Given the description of an element on the screen output the (x, y) to click on. 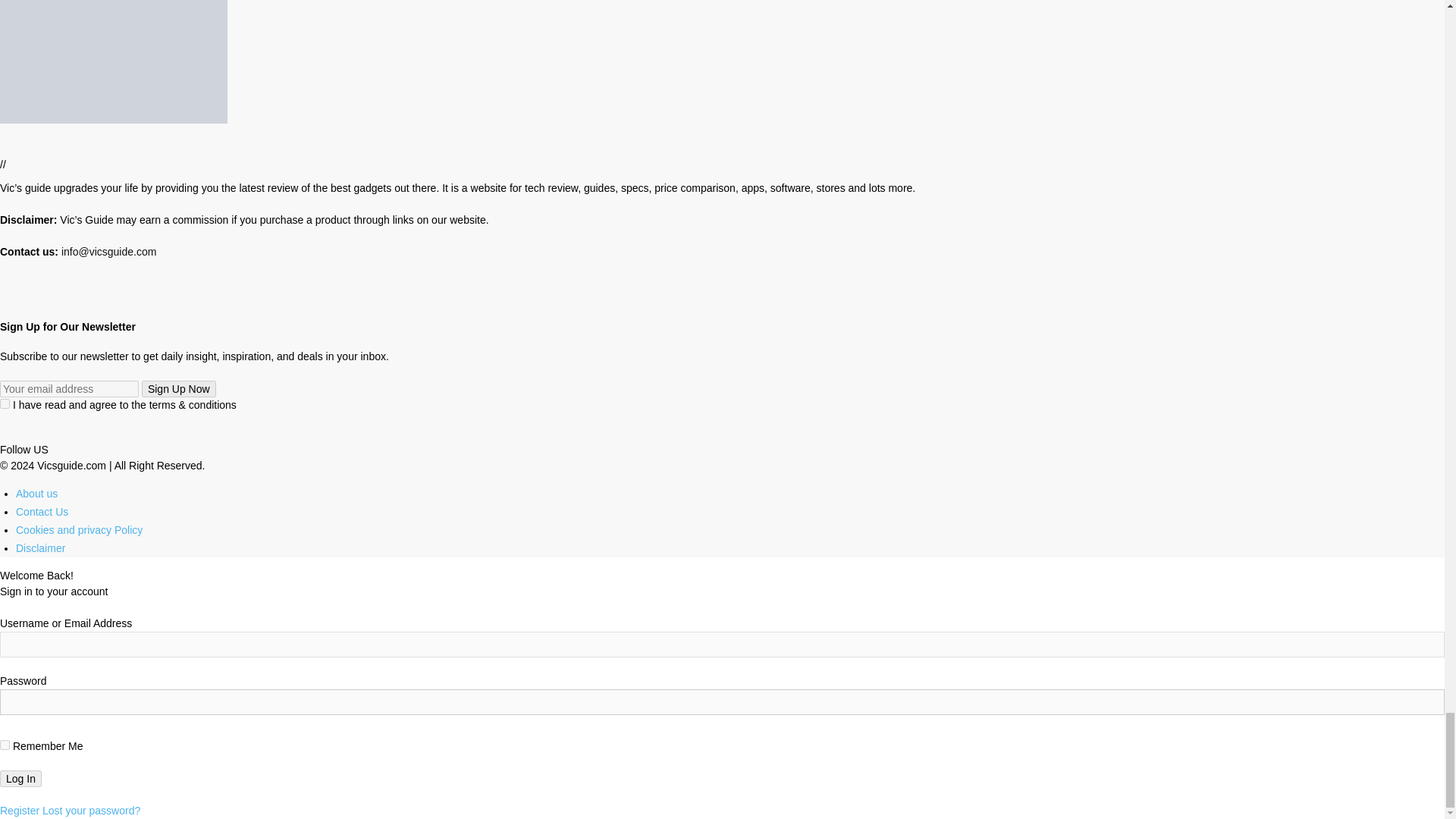
Sign Up Now (178, 388)
Log In (21, 778)
1 (5, 403)
forever (5, 745)
